Given the description of an element on the screen output the (x, y) to click on. 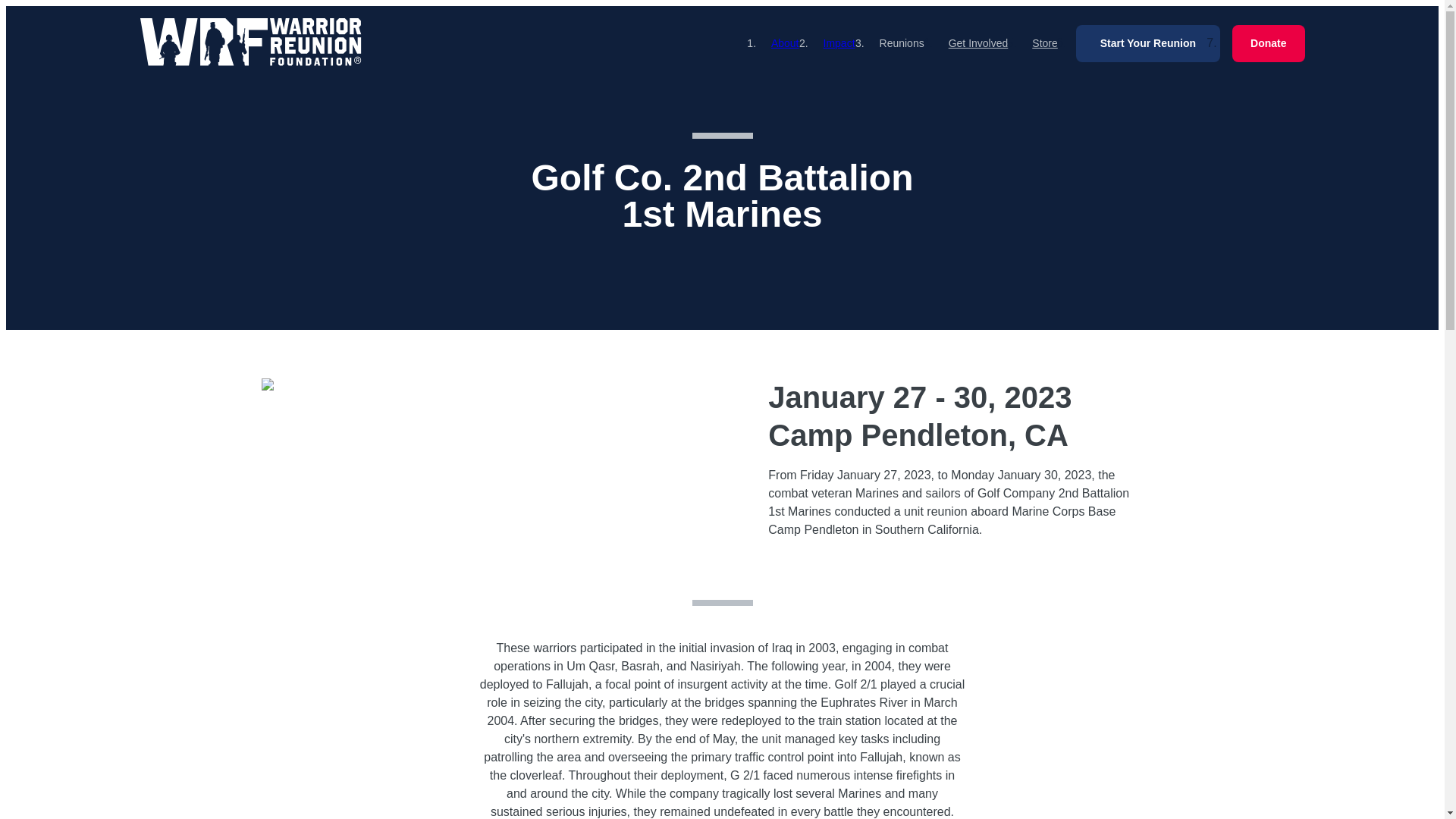
Impact (840, 42)
About (785, 42)
Warrior Reunion Foundation (250, 43)
Start Your Reunion (1147, 44)
Donate (1267, 44)
Store (1044, 42)
Get Involved (978, 42)
